Given the description of an element on the screen output the (x, y) to click on. 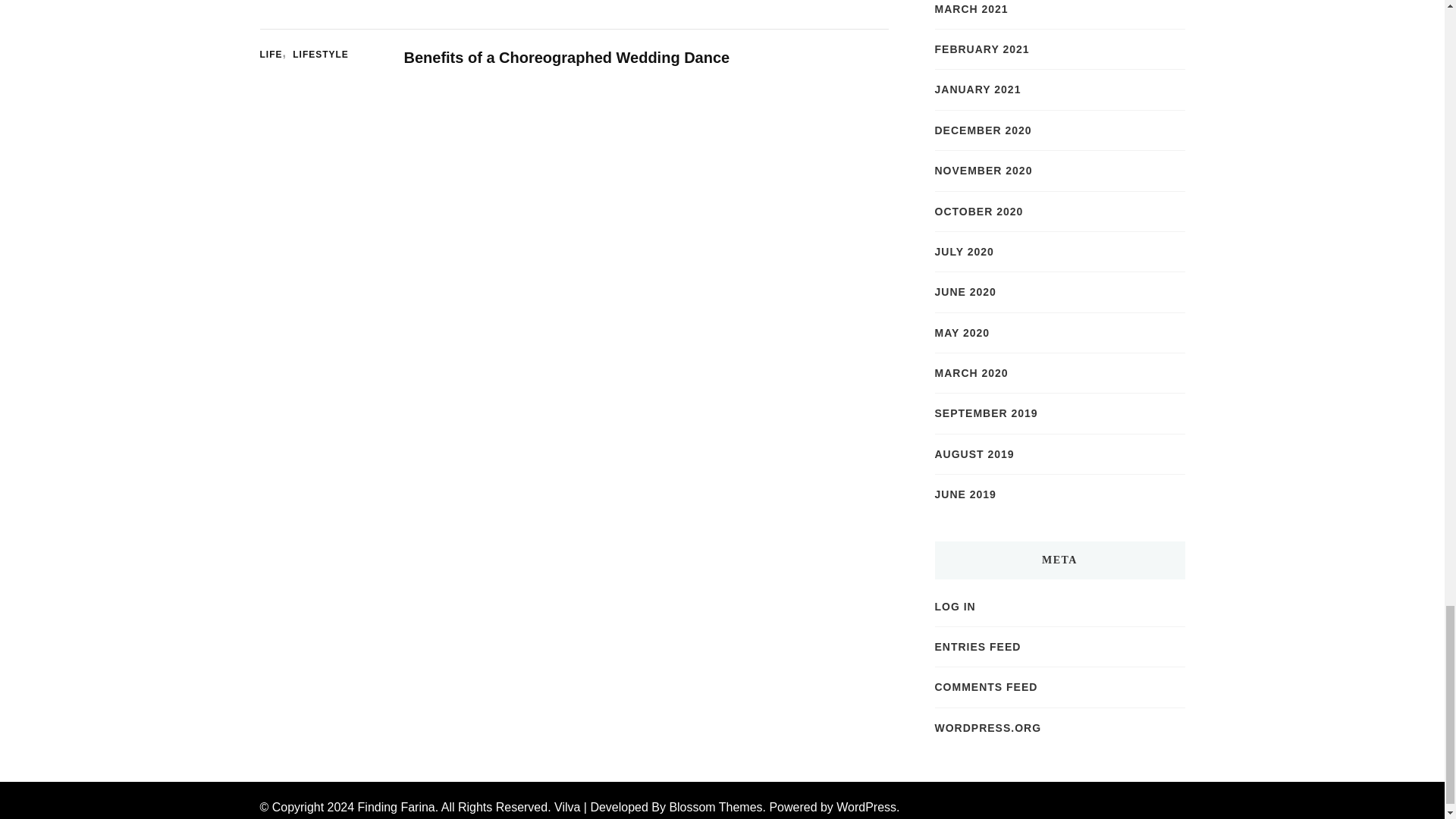
LIFESTYLE (320, 55)
LIFE (274, 55)
Benefits of a Choreographed Wedding Dance (566, 57)
